Given the description of an element on the screen output the (x, y) to click on. 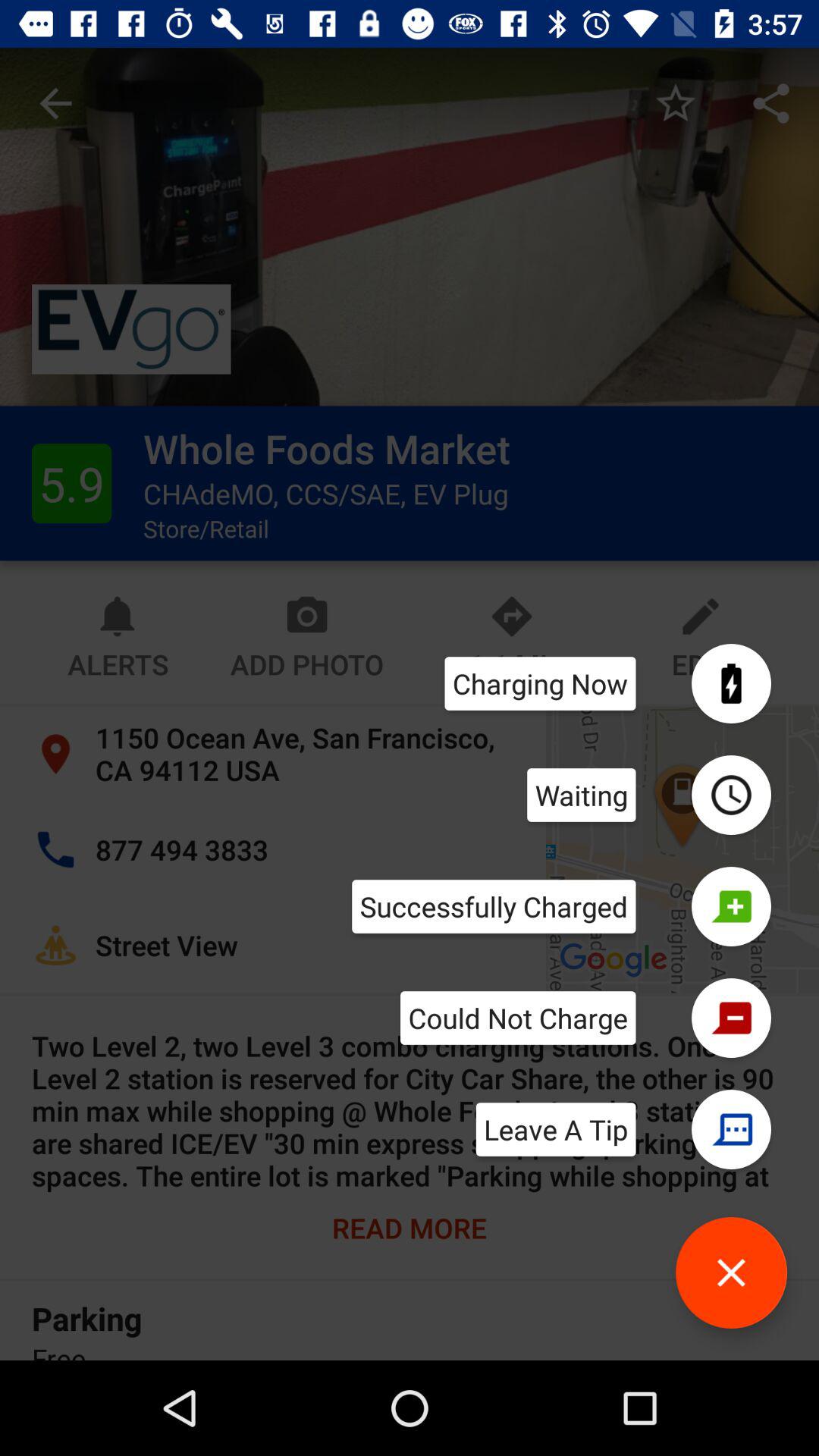
launch the item above could not charge (493, 906)
